Given the description of an element on the screen output the (x, y) to click on. 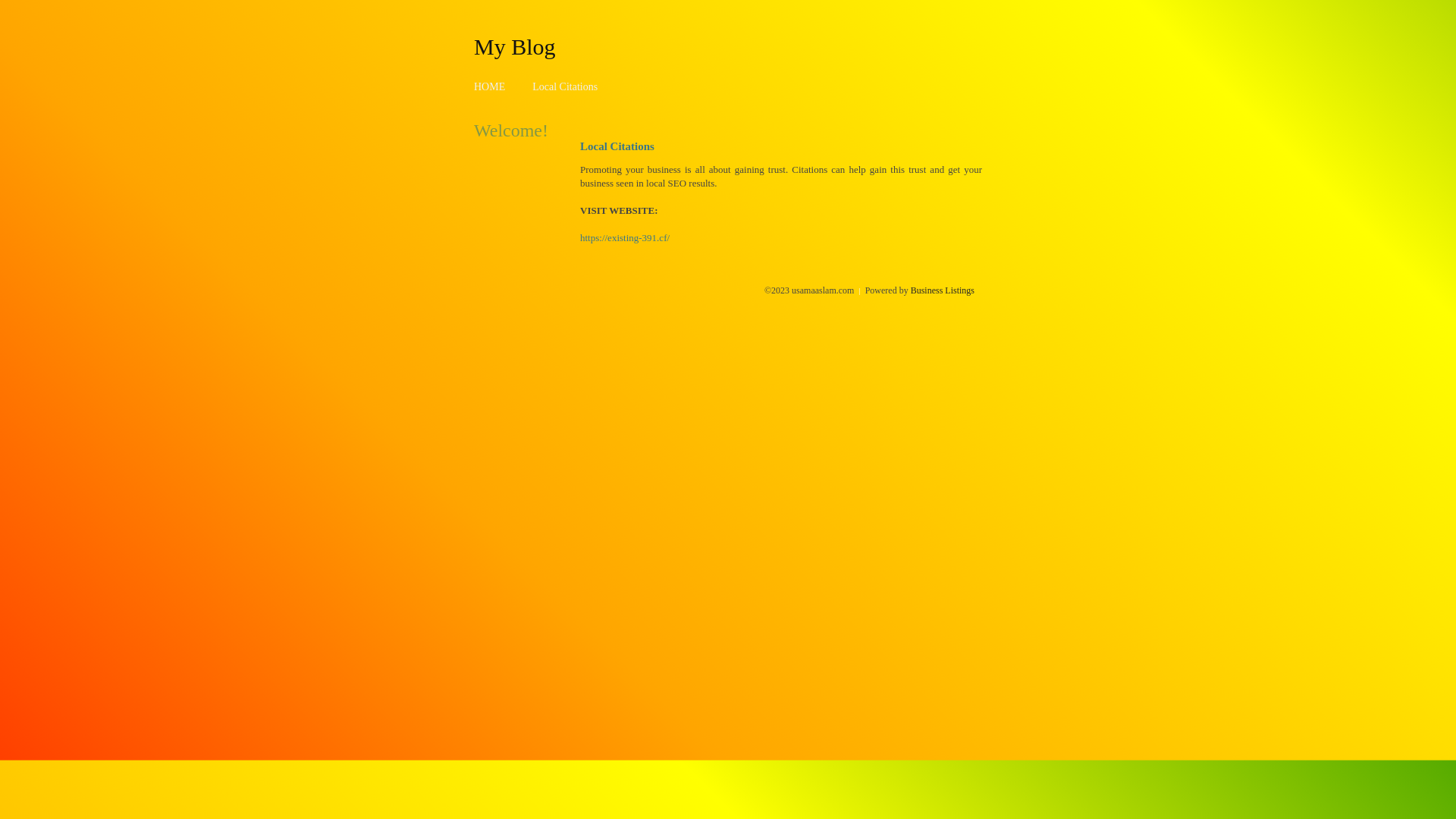
HOME Element type: text (489, 86)
Local Citations Element type: text (564, 86)
Business Listings Element type: text (942, 290)
My Blog Element type: text (514, 46)
https://existing-391.cf/ Element type: text (624, 237)
